Given the description of an element on the screen output the (x, y) to click on. 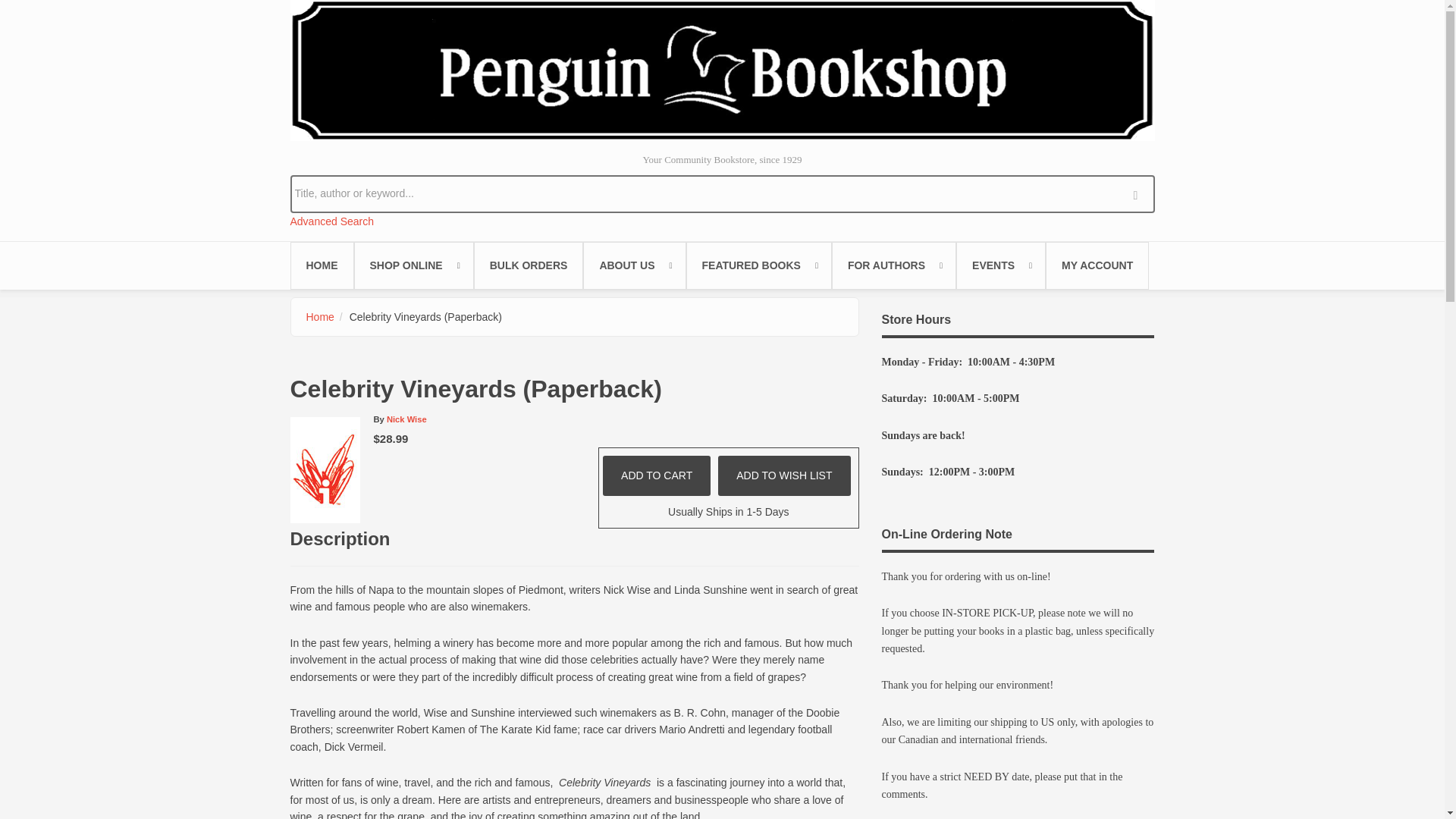
ADD TO WISH LIST (783, 475)
FOR AUTHORS (893, 265)
MY ACCOUNT (1096, 265)
Home (721, 69)
Add to Cart (656, 475)
SHOP ONLINE (413, 265)
Nick Wise (406, 419)
Title, author or keyword... (721, 193)
EVENTS (1000, 265)
HOME (321, 265)
ABOUT US (634, 265)
Self-published author information (893, 265)
Add to Cart (656, 475)
Home (319, 316)
FEATURED BOOKS (758, 265)
